Given the description of an element on the screen output the (x, y) to click on. 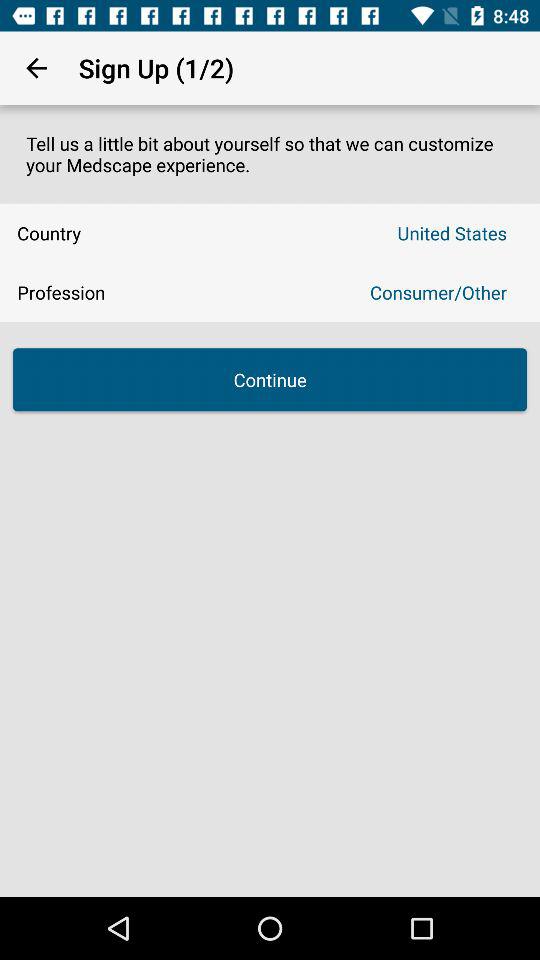
turn on item at the center (269, 379)
